Given the description of an element on the screen output the (x, y) to click on. 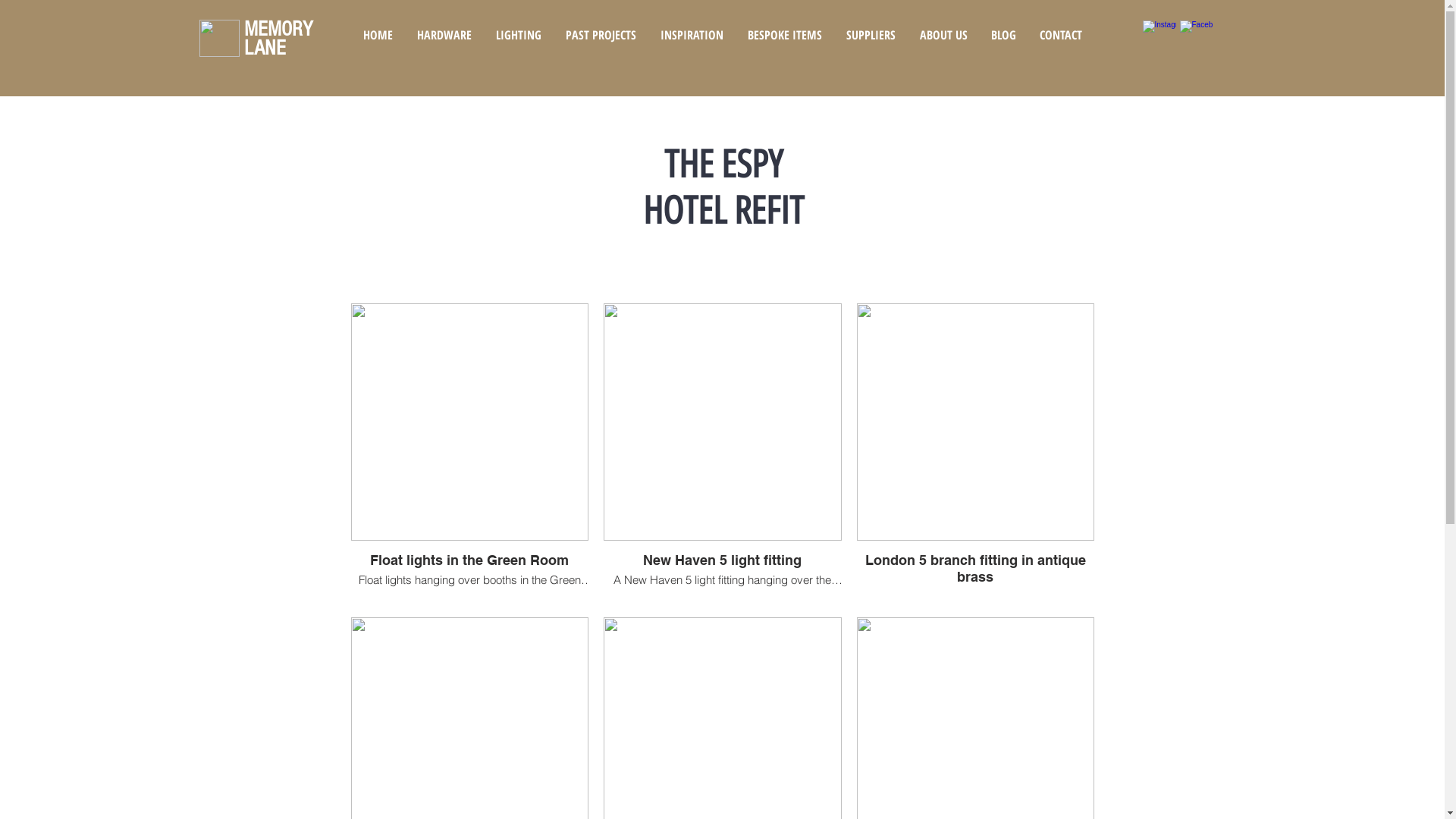
HOME Element type: text (377, 35)
CONTACT Element type: text (1061, 35)
BESPOKE ITEMS Element type: text (784, 35)
MEMORY Element type: text (278, 28)
HARDWARE Element type: text (443, 35)
logo.jpg Element type: hover (218, 37)
BLOG Element type: text (1003, 35)
SUPPLIERS Element type: text (870, 35)
INSPIRATION Element type: text (690, 35)
PAST PROJECTS Element type: text (600, 35)
LIGHTING Element type: text (518, 35)
ABOUT US Element type: text (942, 35)
